Given the description of an element on the screen output the (x, y) to click on. 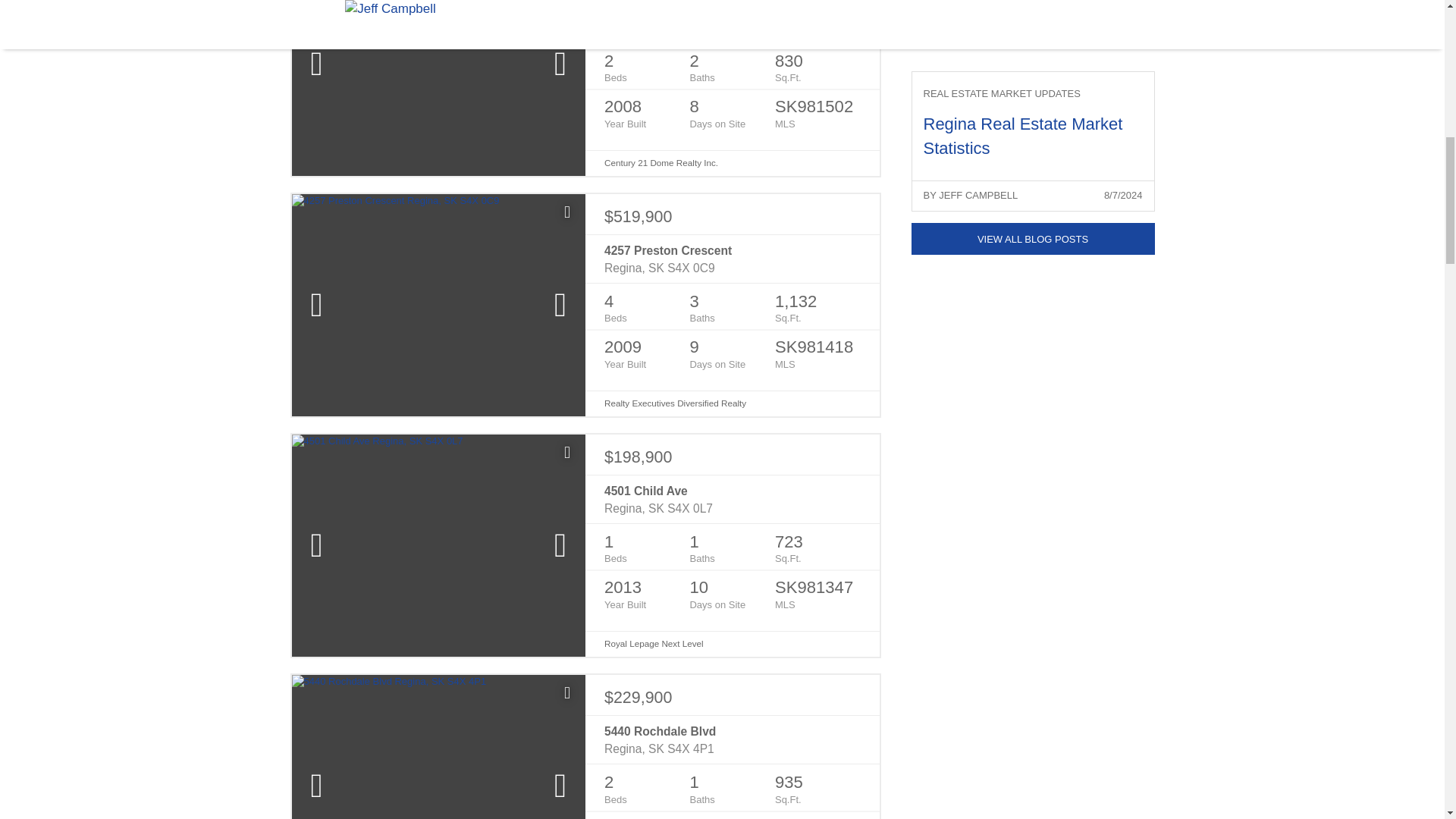
4257 Preston Crescent Regina,  SK S4X 0C9 (732, 259)
1300 N Stockton St Regina,  SK S4X 0G1 (732, 19)
4501 Child Ave Regina,  SK S4X 0L7 (732, 499)
